Given the description of an element on the screen output the (x, y) to click on. 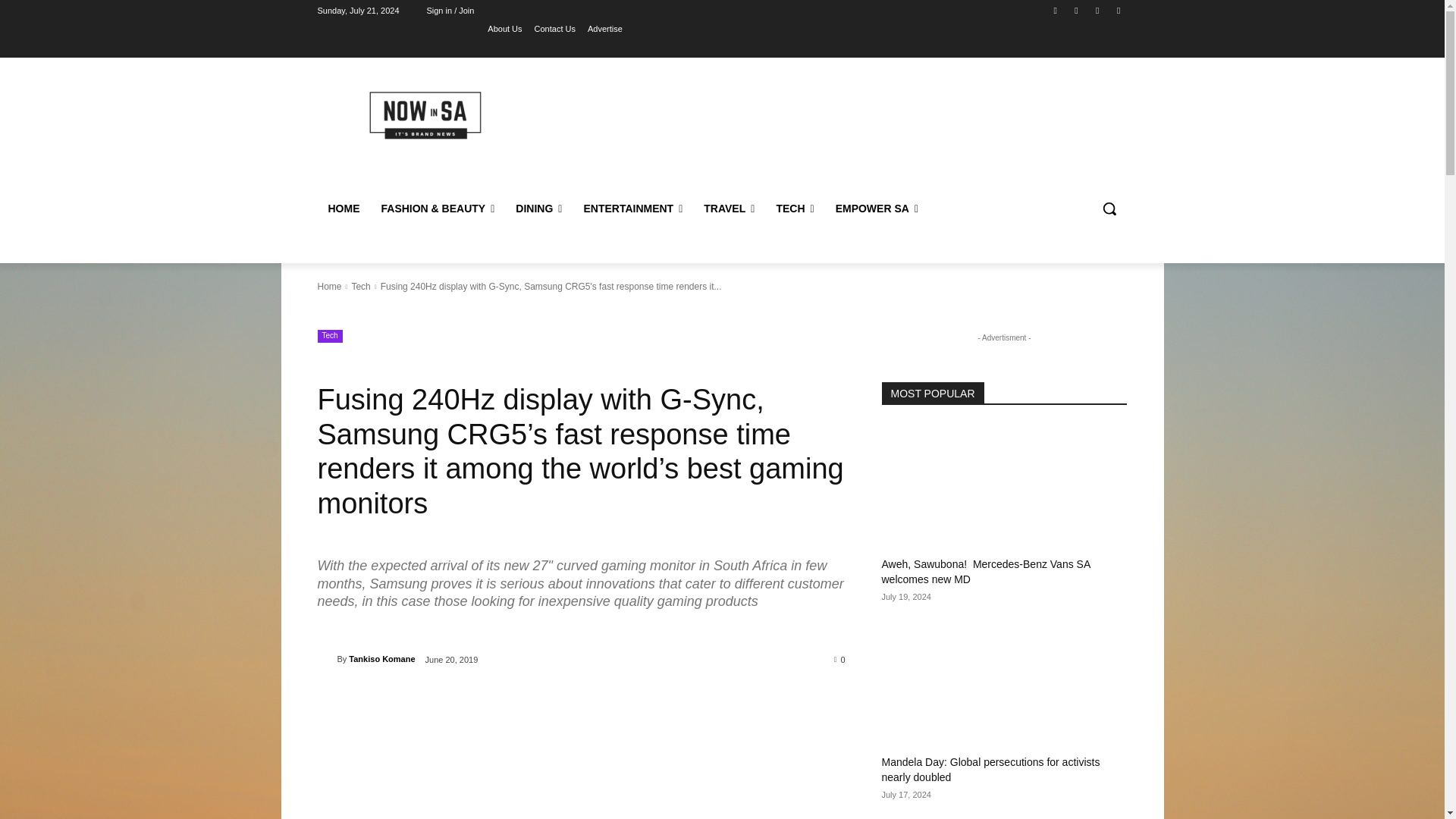
TikTok (1097, 9)
Contact Us (554, 28)
HOME (343, 208)
Advertise (605, 28)
Twitter (1117, 9)
Facebook (1055, 9)
About Us (504, 28)
Instagram (1075, 9)
